Given the description of an element on the screen output the (x, y) to click on. 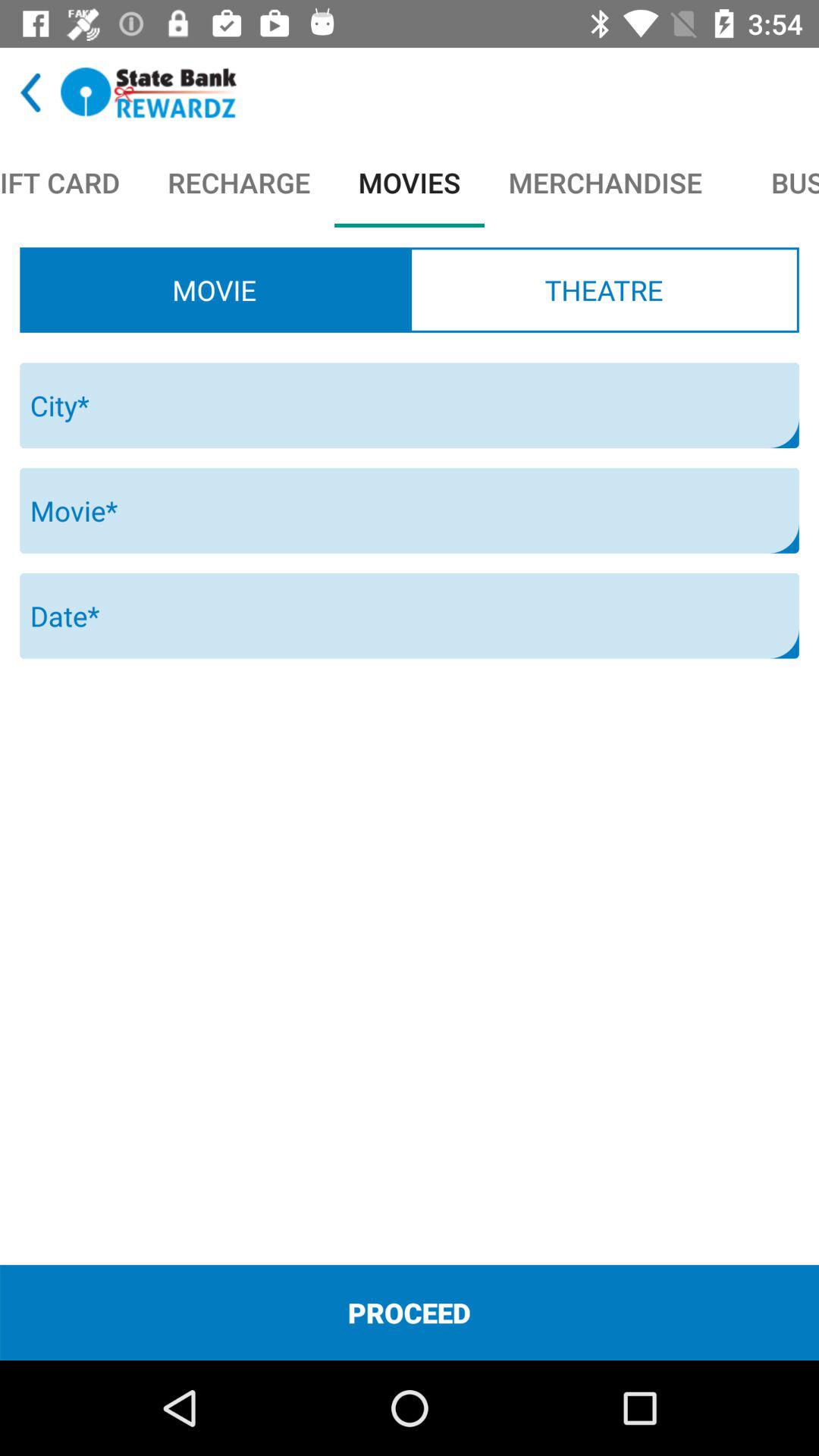
swipe until theatre item (604, 289)
